Given the description of an element on the screen output the (x, y) to click on. 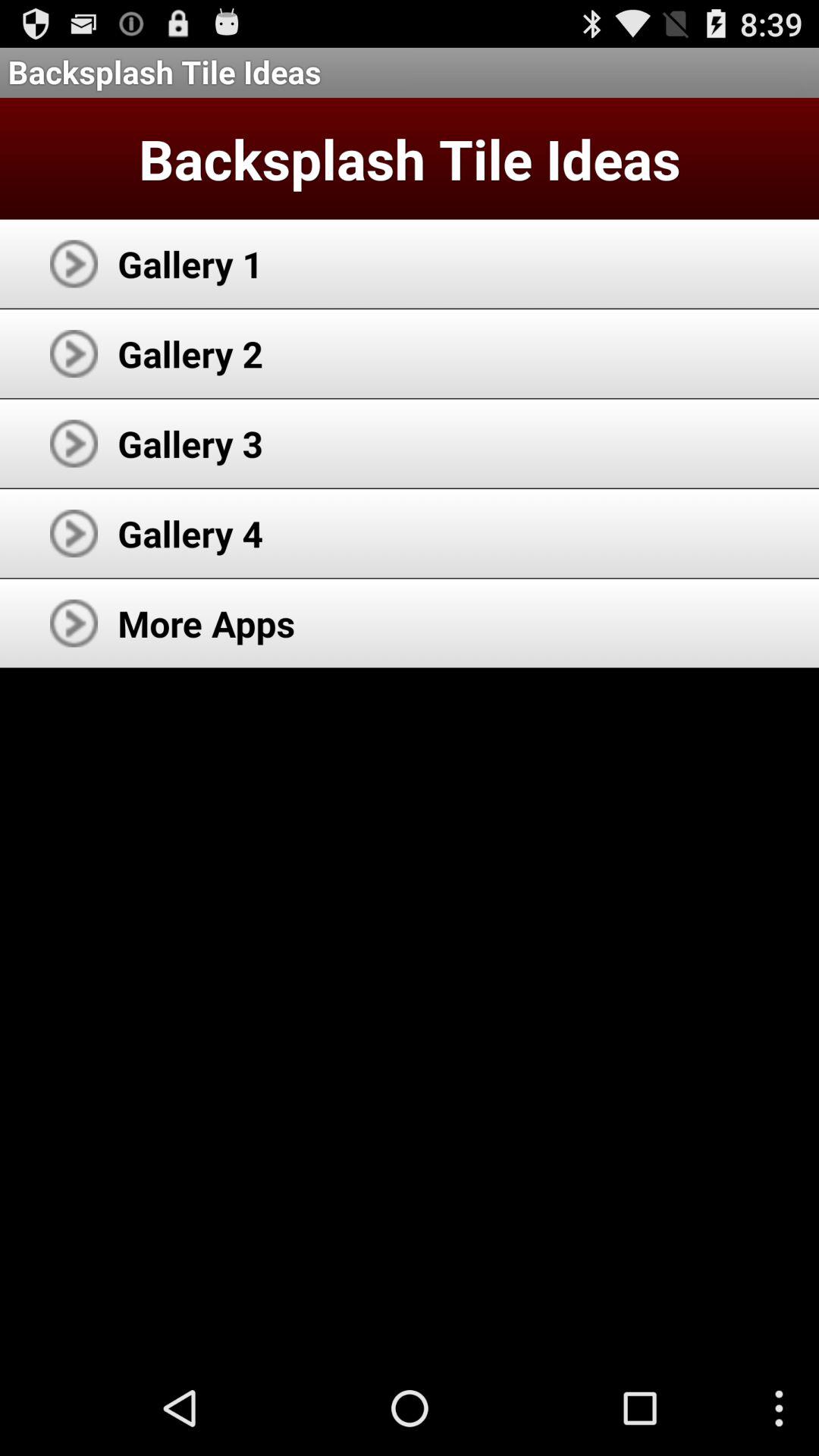
click app below backsplash tile ideas app (190, 263)
